Given the description of an element on the screen output the (x, y) to click on. 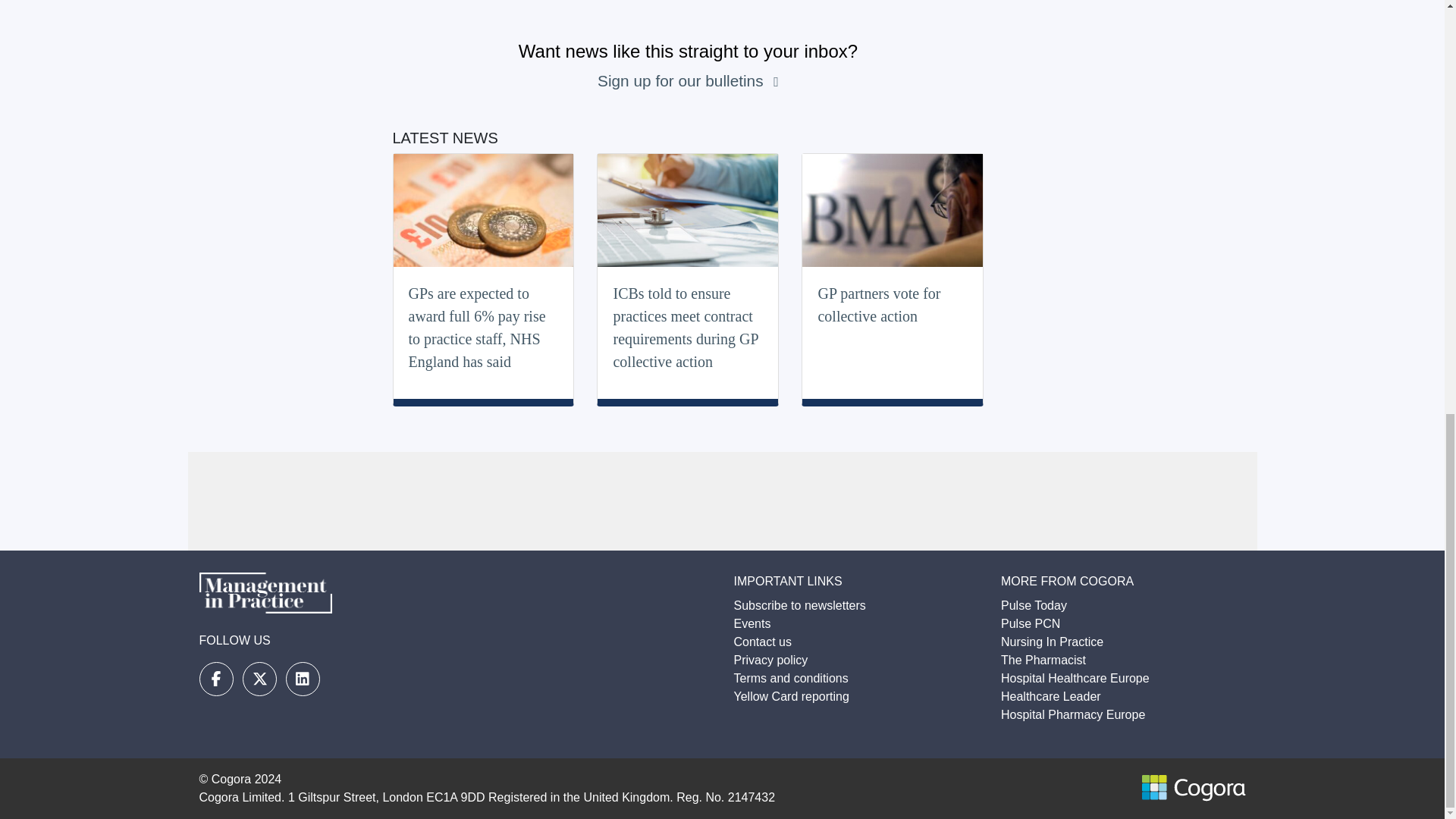
Events (752, 623)
Hospital Pharmacy Europe (1072, 714)
Subscribe to newsletters (799, 604)
Contact us (762, 641)
Yellow Card reporting (790, 696)
Hospital Healthcare Europe (1075, 677)
Nursing In Practice (1052, 641)
Pulse PCN (1030, 623)
The Pharmacist (1043, 659)
Privacy policy (770, 659)
Sign up for our bulletins (681, 80)
Pulse Today (1034, 604)
Healthcare Leader (1050, 696)
Terms and conditions (790, 677)
